Given the description of an element on the screen output the (x, y) to click on. 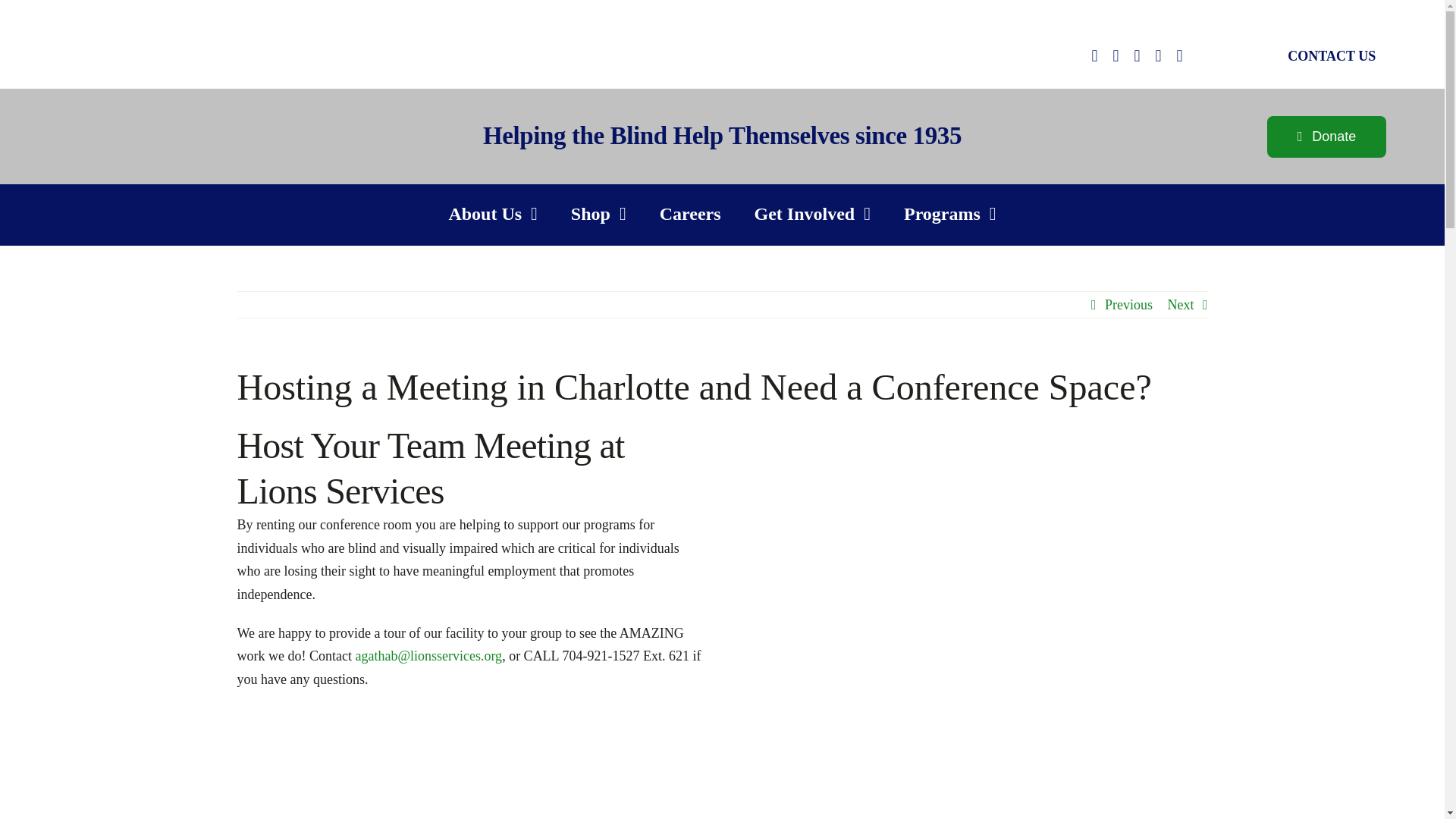
About Us (492, 214)
Programs (949, 214)
Donate (1326, 137)
Get Involved (812, 214)
CONTACT US (1331, 55)
Shop (597, 214)
Careers (689, 214)
